Given the description of an element on the screen output the (x, y) to click on. 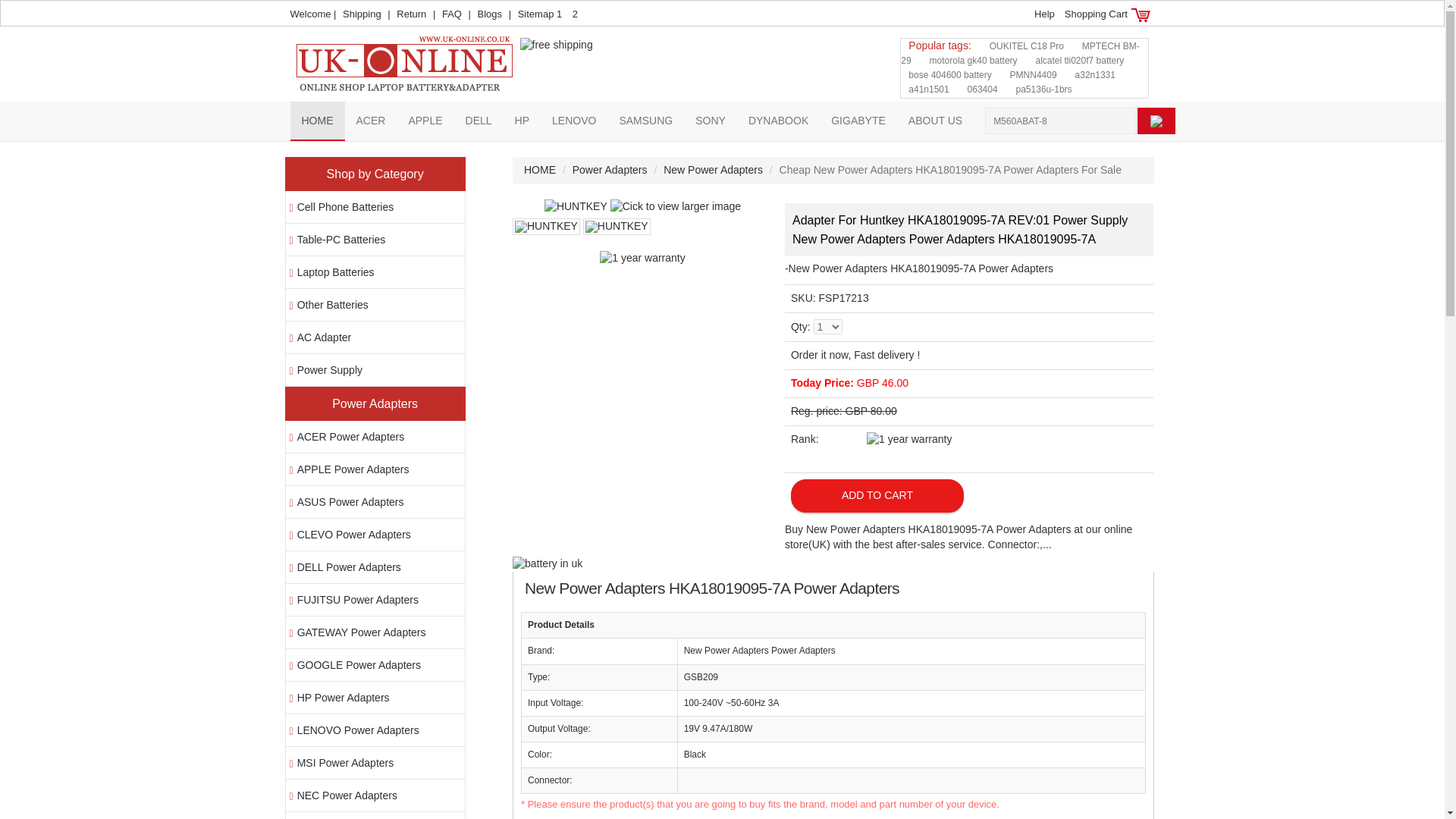
Huntkey HKA18019095-7A REV:01 Power Supply (642, 205)
MPTECH BM-29 (1020, 53)
APPLE Power Adapters (353, 469)
DELL (478, 120)
a32n1331 (1095, 74)
HOME (316, 120)
Shopping Cart (1104, 13)
ACER (369, 120)
pa5136u-1brs (1043, 89)
063404 (982, 89)
